Given the description of an element on the screen output the (x, y) to click on. 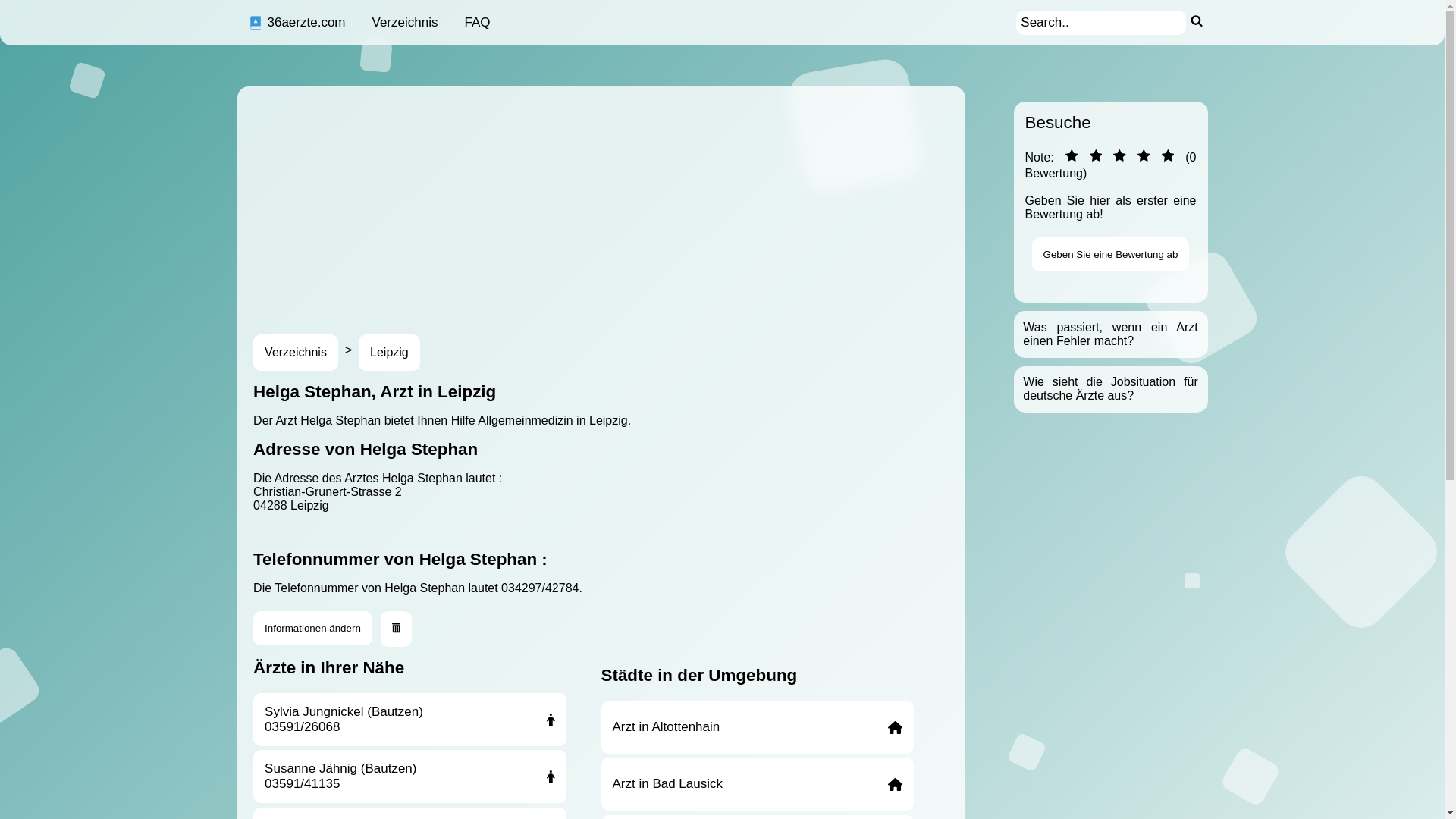
034297/42784 Element type: text (539, 587)
FAQ Element type: text (476, 22)
Was passiert, wenn ein Arzt einen Fehler macht? Element type: text (1109, 333)
Geben Sie eine Bewertung ab Element type: text (1110, 254)
36aerzte.com Element type: text (296, 22)
Arzt in Altottenhain Element type: text (756, 726)
Advertisement Element type: hover (691, 200)
Sylvia Jungnickel (Bautzen)
03591/26068 Element type: text (409, 719)
Verzeichnis Element type: text (404, 22)
Arzt in Bad Lausick Element type: text (756, 783)
Leipzig Element type: text (389, 352)
Verzeichnis Element type: text (295, 352)
